Given the description of an element on the screen output the (x, y) to click on. 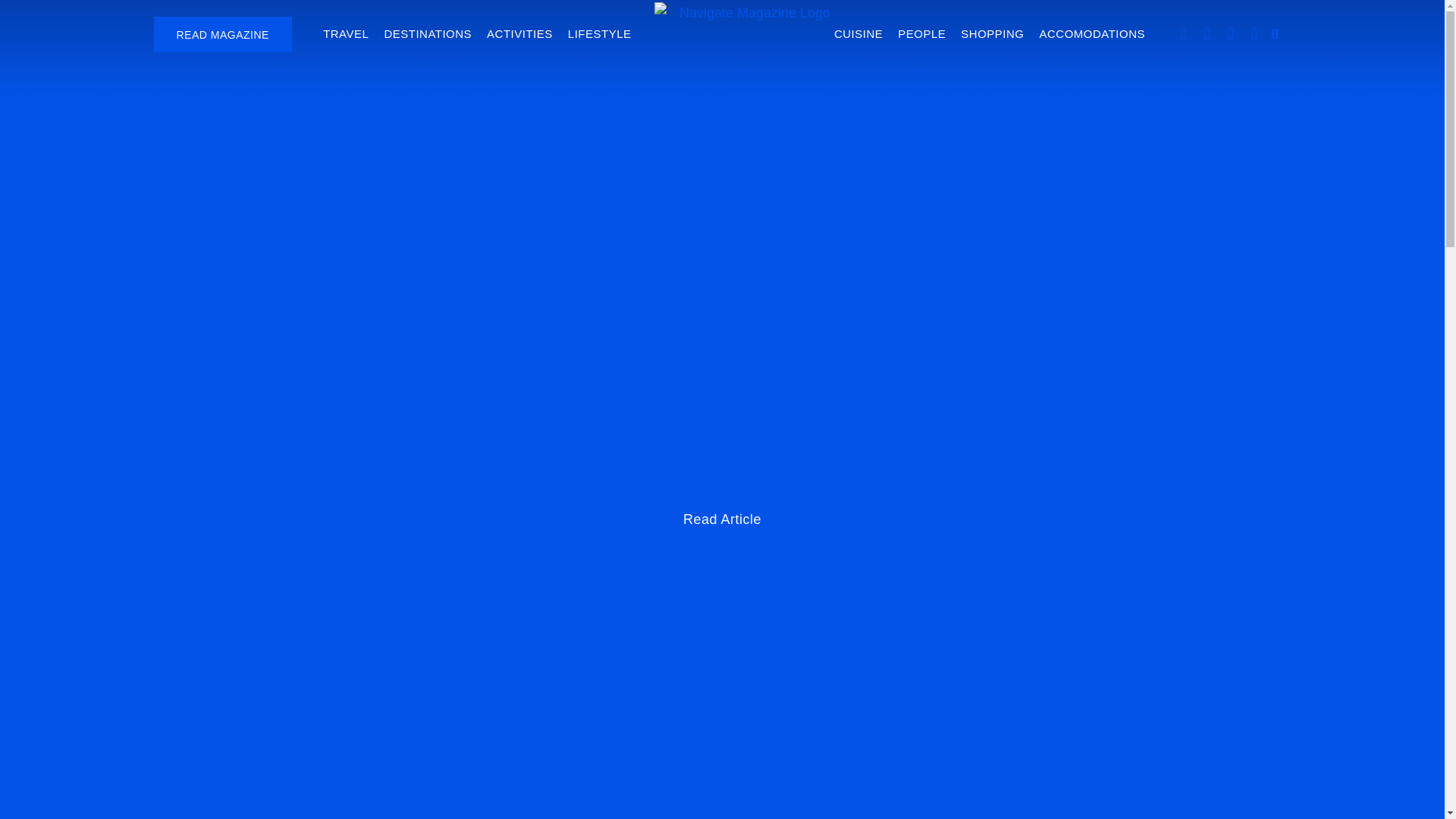
PEOPLE (921, 33)
SHOPPING (991, 33)
LIFESTYLE (599, 33)
READ MAGAZINE (221, 34)
ACTIVITIES (519, 33)
TRAVEL (345, 33)
DESTINATIONS (427, 33)
ACCOMODATIONS (1091, 33)
CUISINE (858, 33)
